Given the description of an element on the screen output the (x, y) to click on. 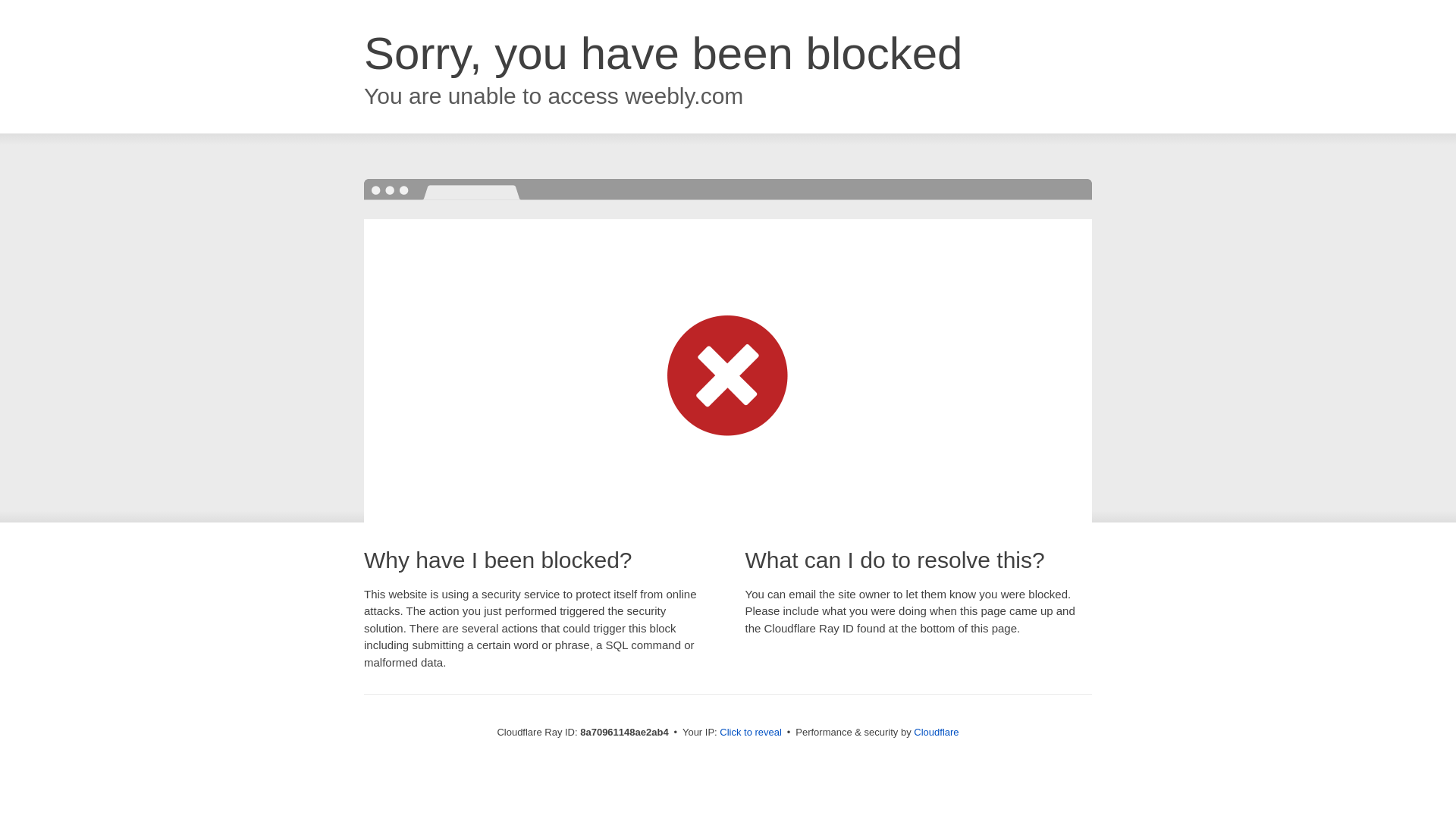
Click to reveal (750, 732)
Cloudflare (936, 731)
